Given the description of an element on the screen output the (x, y) to click on. 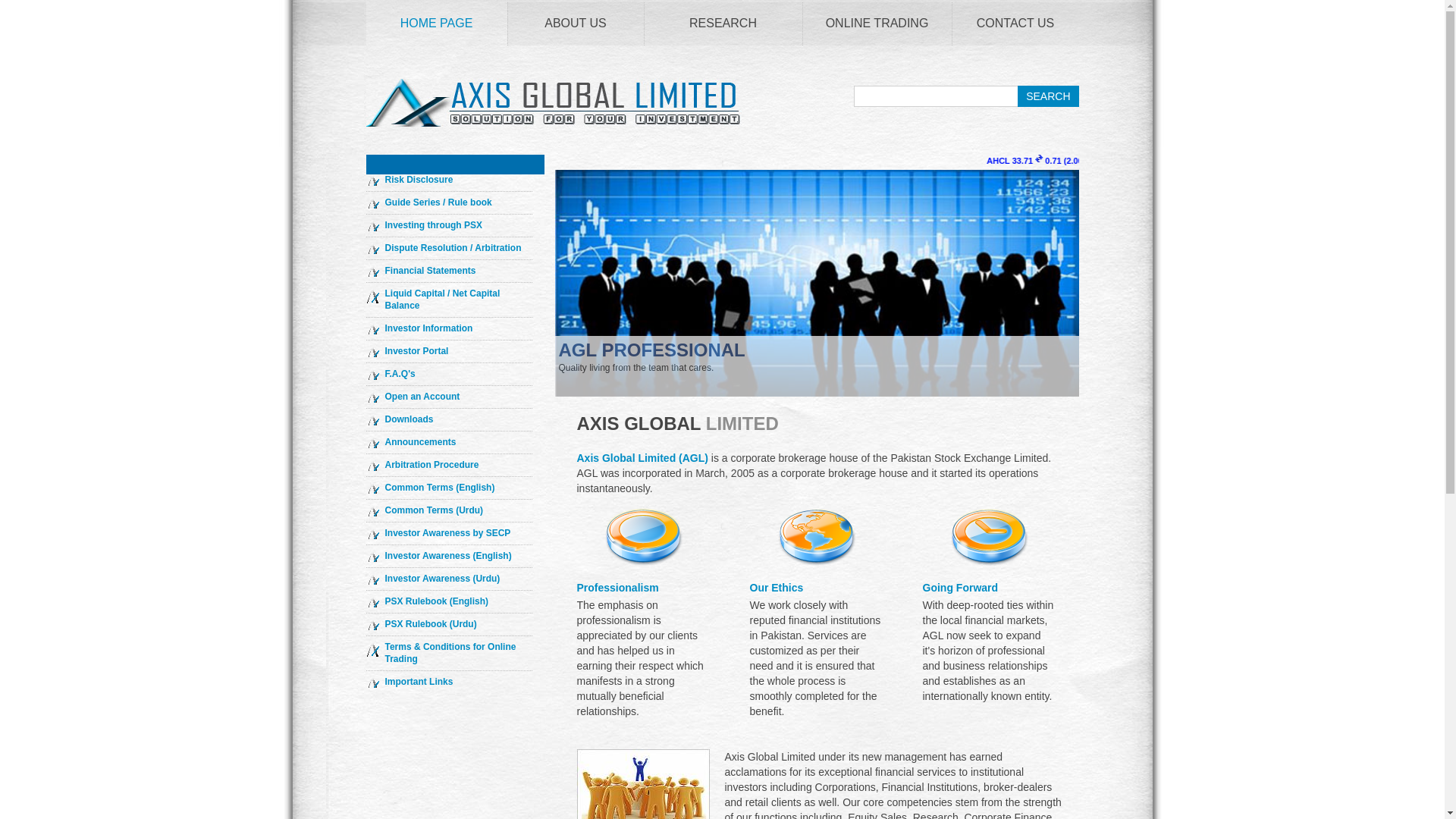
Open an Account (422, 396)
Important Links (418, 681)
Risk Disclosure (418, 179)
Announcements (421, 441)
HOME PAGE (435, 23)
Investor Awareness by SECP (448, 532)
Negative (1101, 158)
Investor Portal (416, 350)
Downloads (409, 419)
ABOUT US (575, 23)
SEARCH (1047, 96)
ONLINE TRADING (876, 23)
Positive (1316, 158)
CONTACT US (1015, 23)
Investing through PSX (434, 225)
